Given the description of an element on the screen output the (x, y) to click on. 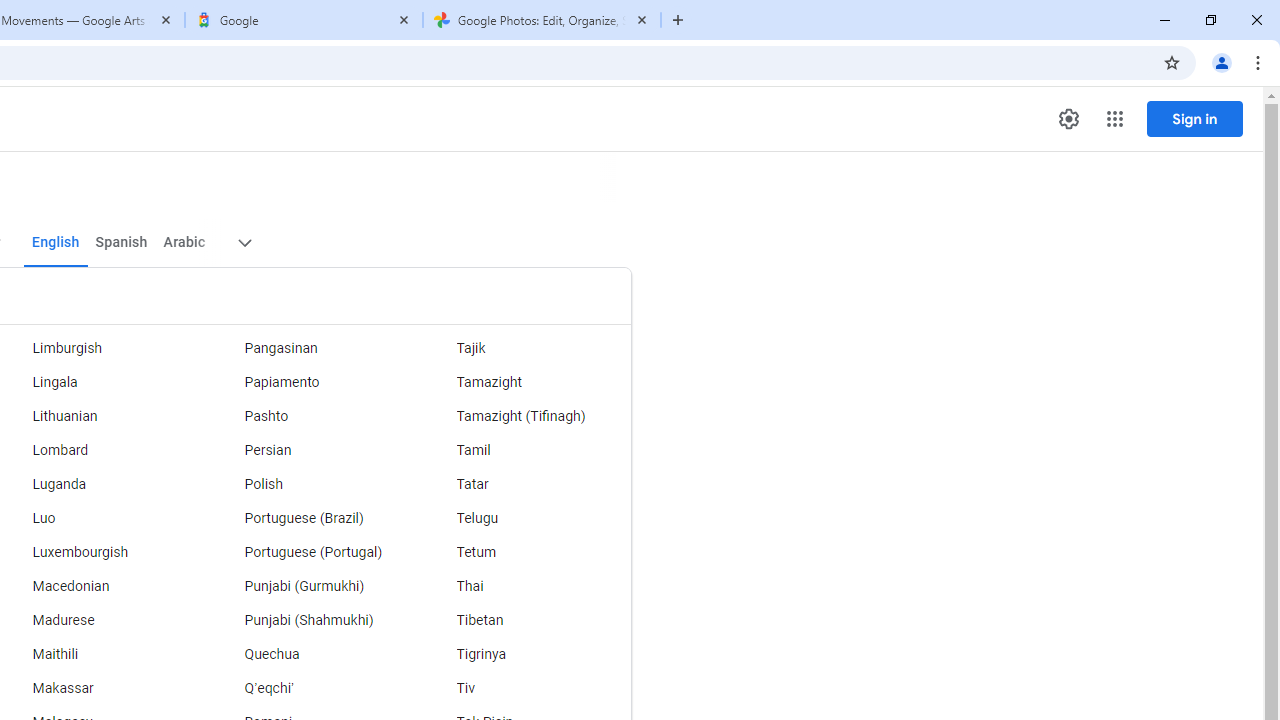
Tamazight (525, 382)
Thai (525, 586)
Telugu (525, 518)
Papiamento (312, 382)
Persian (312, 450)
